Given the description of an element on the screen output the (x, y) to click on. 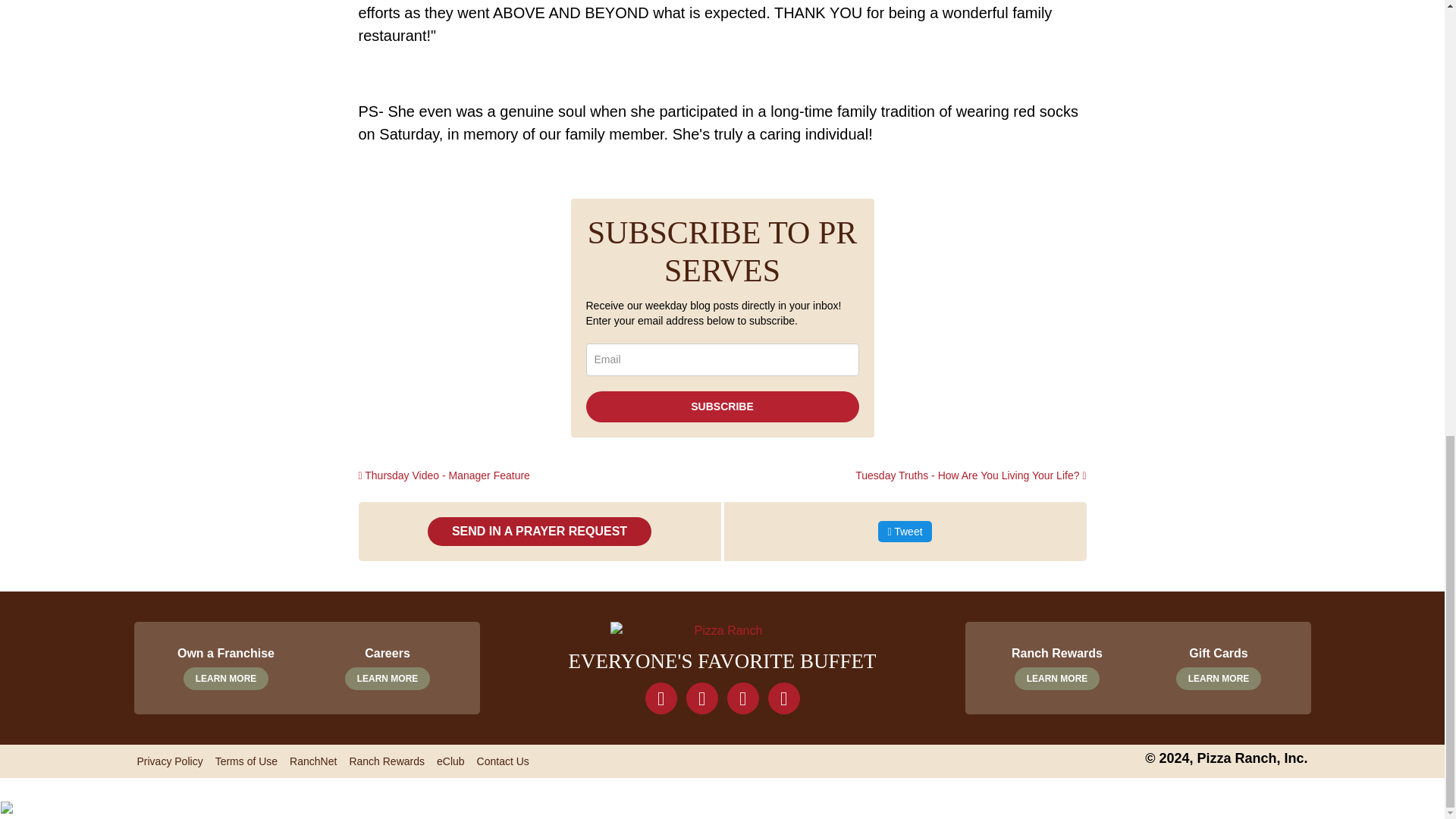
SUBSCRIBE (1056, 662)
Tweet (722, 406)
Ranch Rewards (904, 531)
RanchNet (386, 761)
SEND IN A PRAYER REQUEST (312, 761)
Privacy Policy (225, 662)
eClub (539, 531)
